Given the description of an element on the screen output the (x, y) to click on. 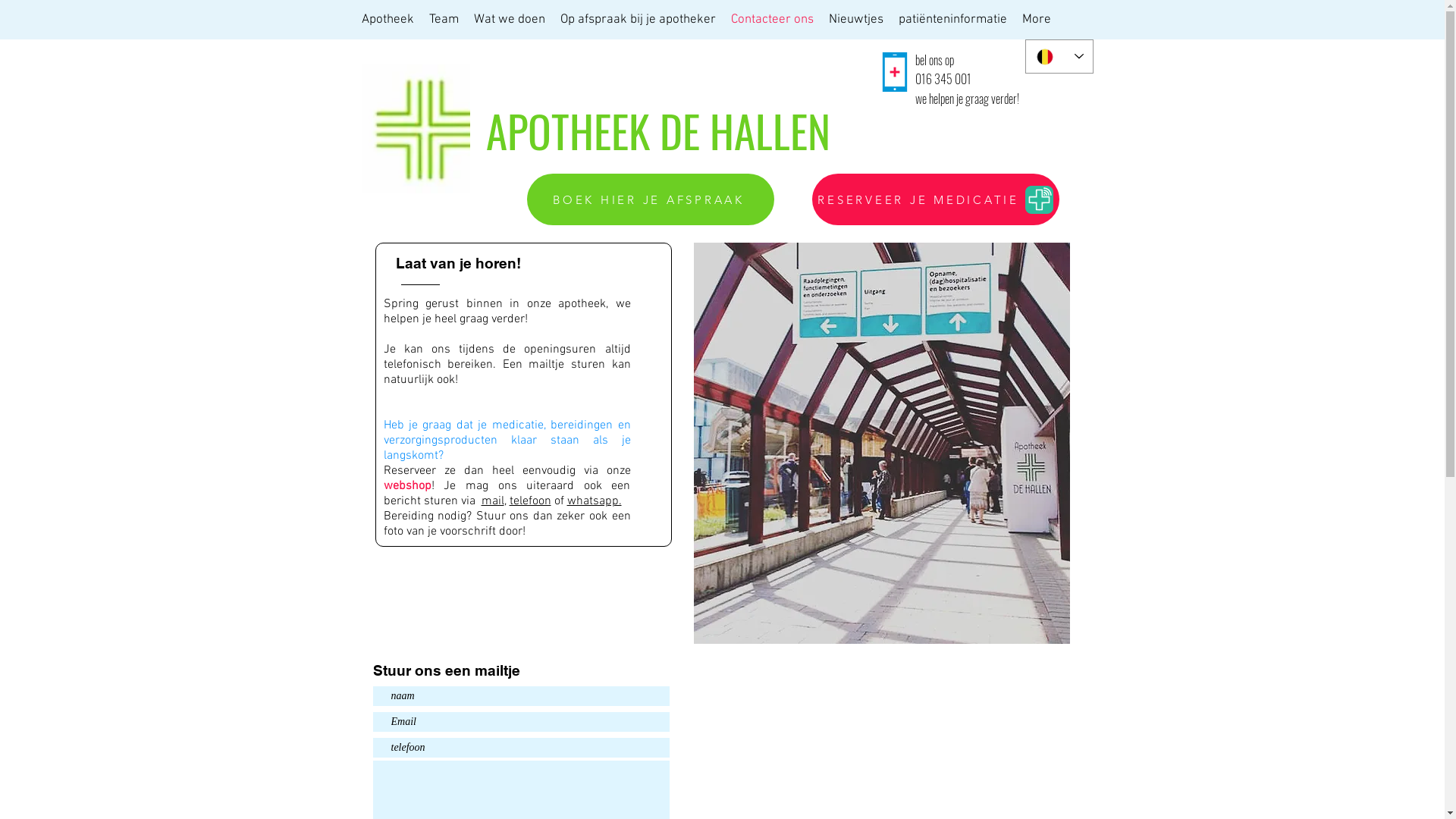
BOEK HIER JE AFSPRAAK Element type: text (649, 199)
telefoon of  Element type: text (538, 500)
Team Element type: text (443, 19)
Nieuwtjes Element type: text (855, 19)
Wat we doen Element type: text (508, 19)
whatsapp. Element type: text (594, 500)
mail Element type: text (491, 500)
Contacteer ons Element type: text (772, 19)
RESERVEER JE MEDICATIE Element type: text (934, 199)
Op afspraak bij je apotheker Element type: text (637, 19)
Apotheek Element type: text (386, 19)
